Given the description of an element on the screen output the (x, y) to click on. 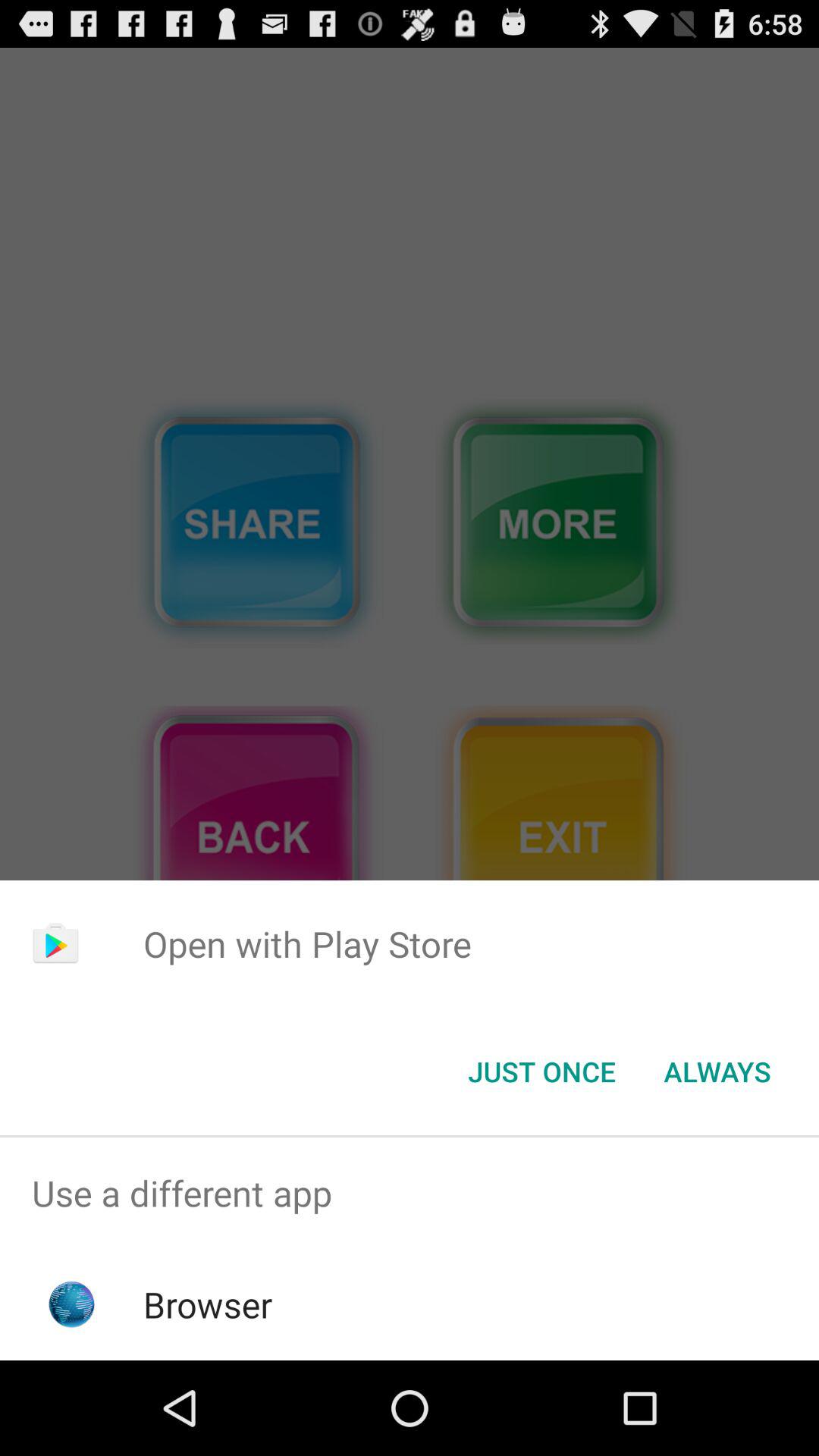
choose use a different (409, 1192)
